Given the description of an element on the screen output the (x, y) to click on. 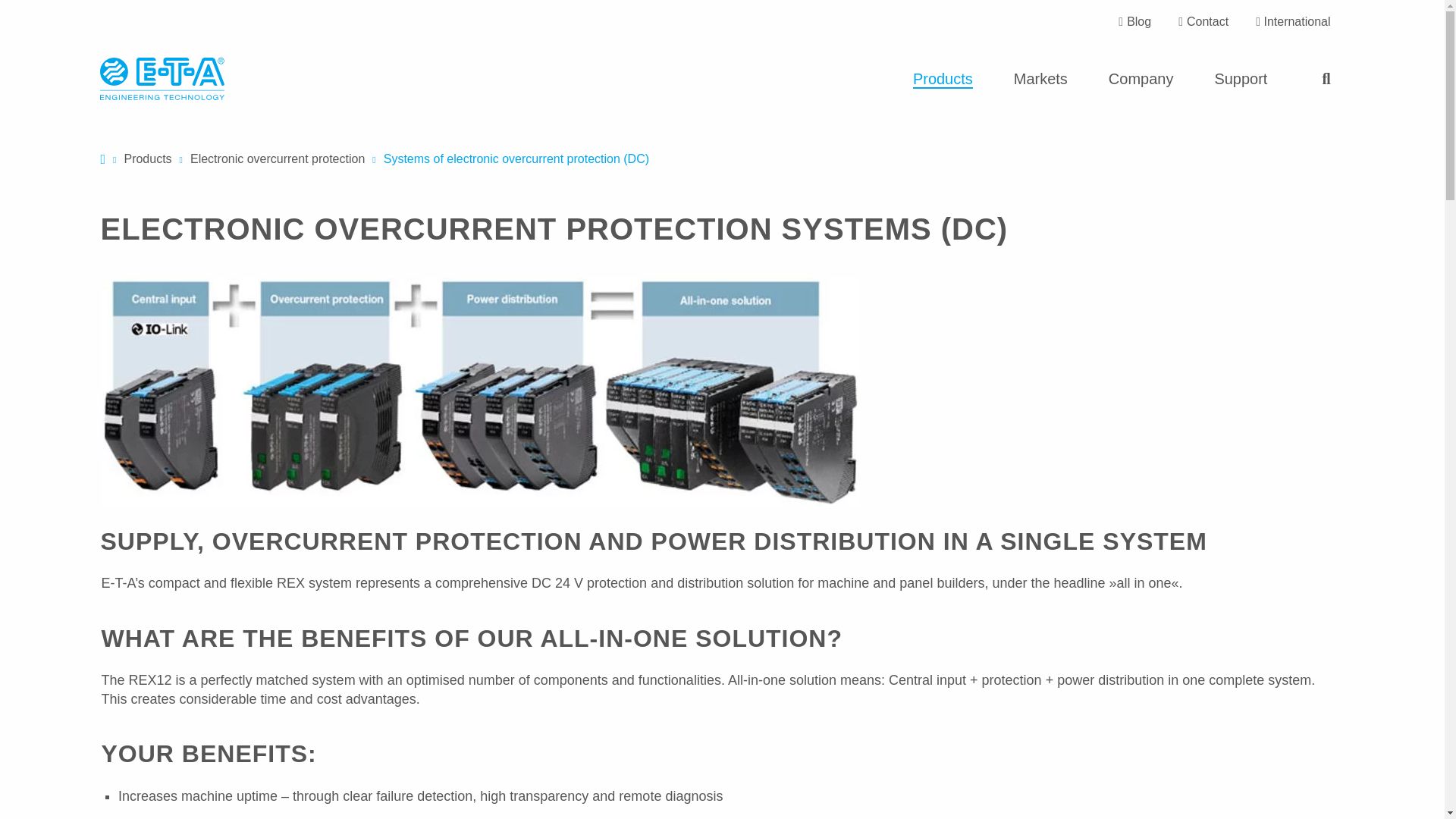
 International (1292, 22)
Contact (1202, 21)
Blog (1134, 21)
To Homepage (162, 78)
Markets (1040, 78)
Products (943, 78)
